Given the description of an element on the screen output the (x, y) to click on. 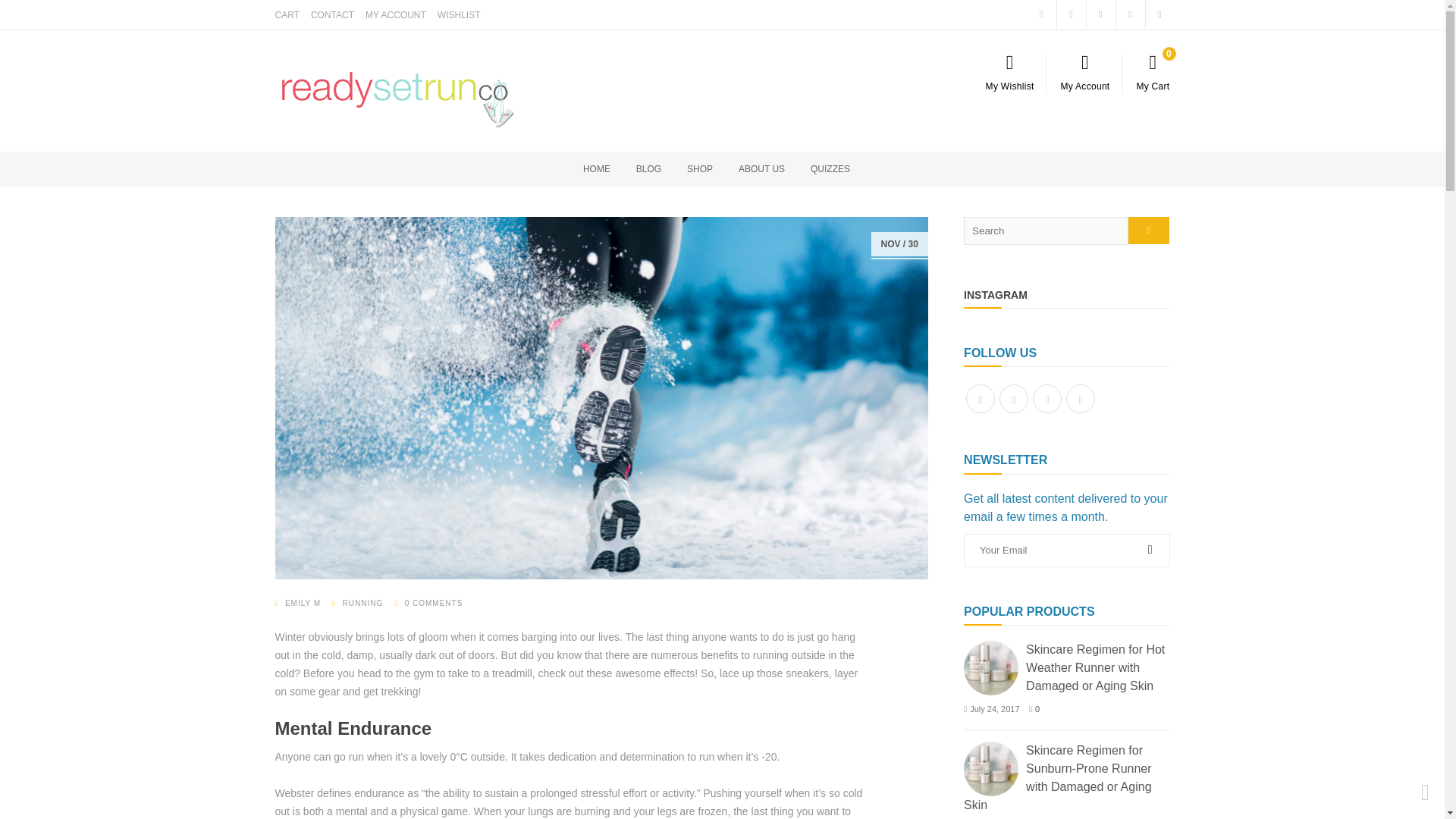
Instagram (1012, 398)
CONTACT (332, 14)
CART (286, 14)
MY ACCOUNT (395, 14)
WISHLIST (459, 14)
Facebook (980, 398)
Posts by Emily M (302, 602)
Twitter (1079, 398)
My Wishlist (1009, 71)
My Account (1084, 71)
Pinterest (1046, 398)
